Given the description of an element on the screen output the (x, y) to click on. 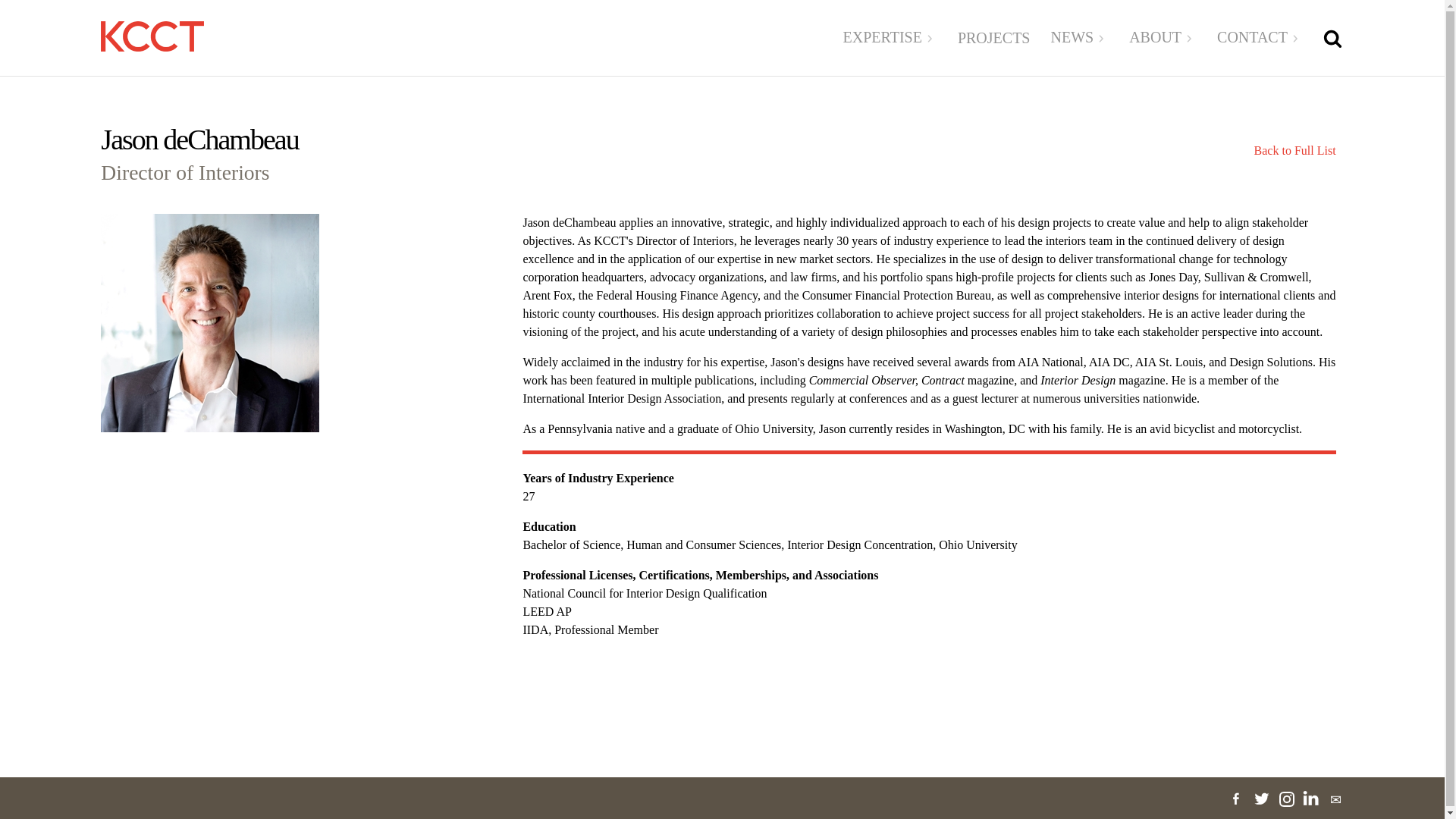
ABOUT (1162, 37)
PROJECTS (994, 37)
EXPERTISE (890, 37)
NEWS (1078, 37)
